Given the description of an element on the screen output the (x, y) to click on. 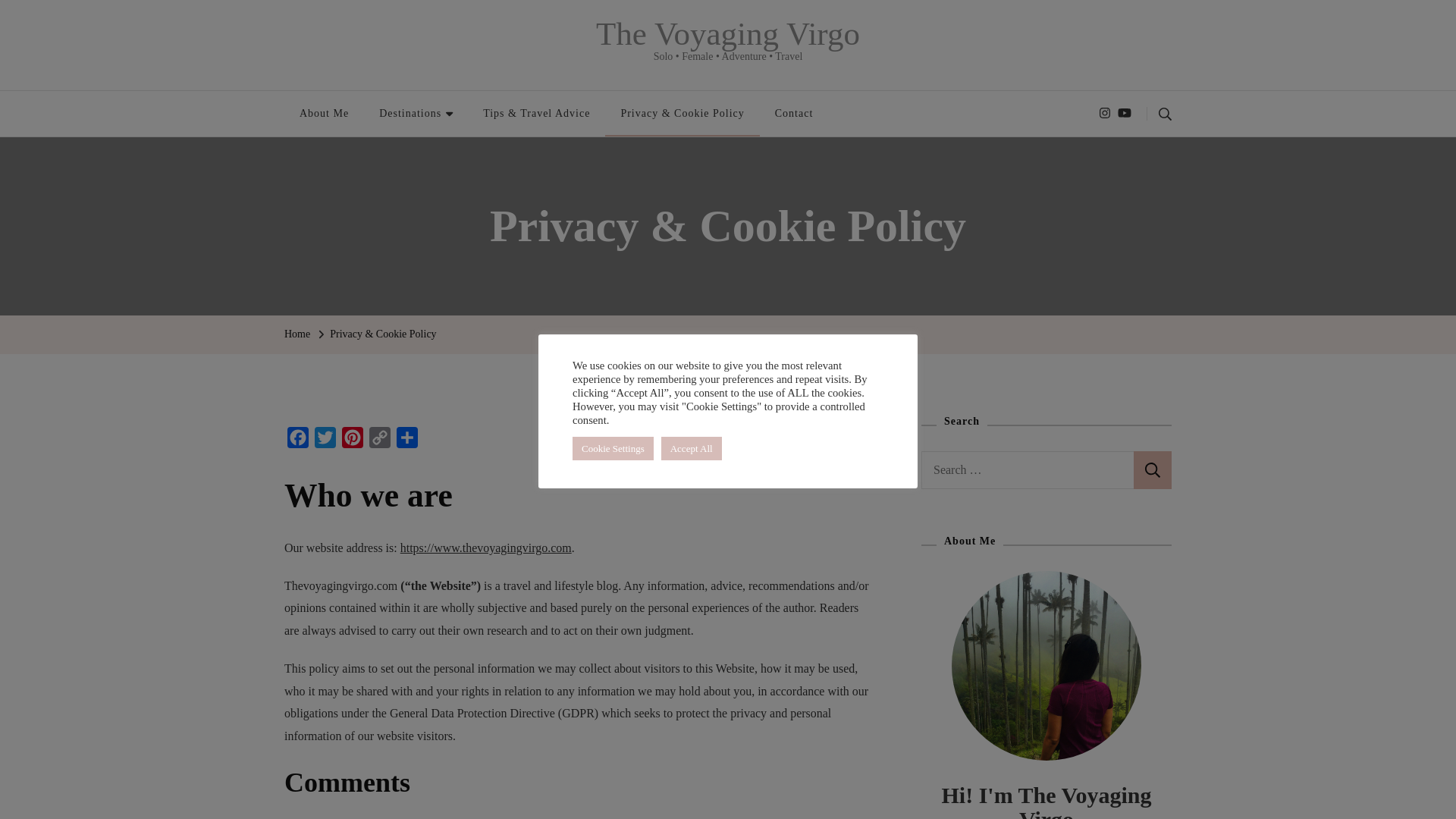
Pinterest (352, 440)
Destinations (415, 113)
Copy Link (379, 440)
Twitter (325, 440)
Search (1153, 469)
About Me (323, 113)
The Voyaging Virgo (727, 33)
Facebook (297, 440)
Contact (794, 113)
Search (1153, 469)
